Given the description of an element on the screen output the (x, y) to click on. 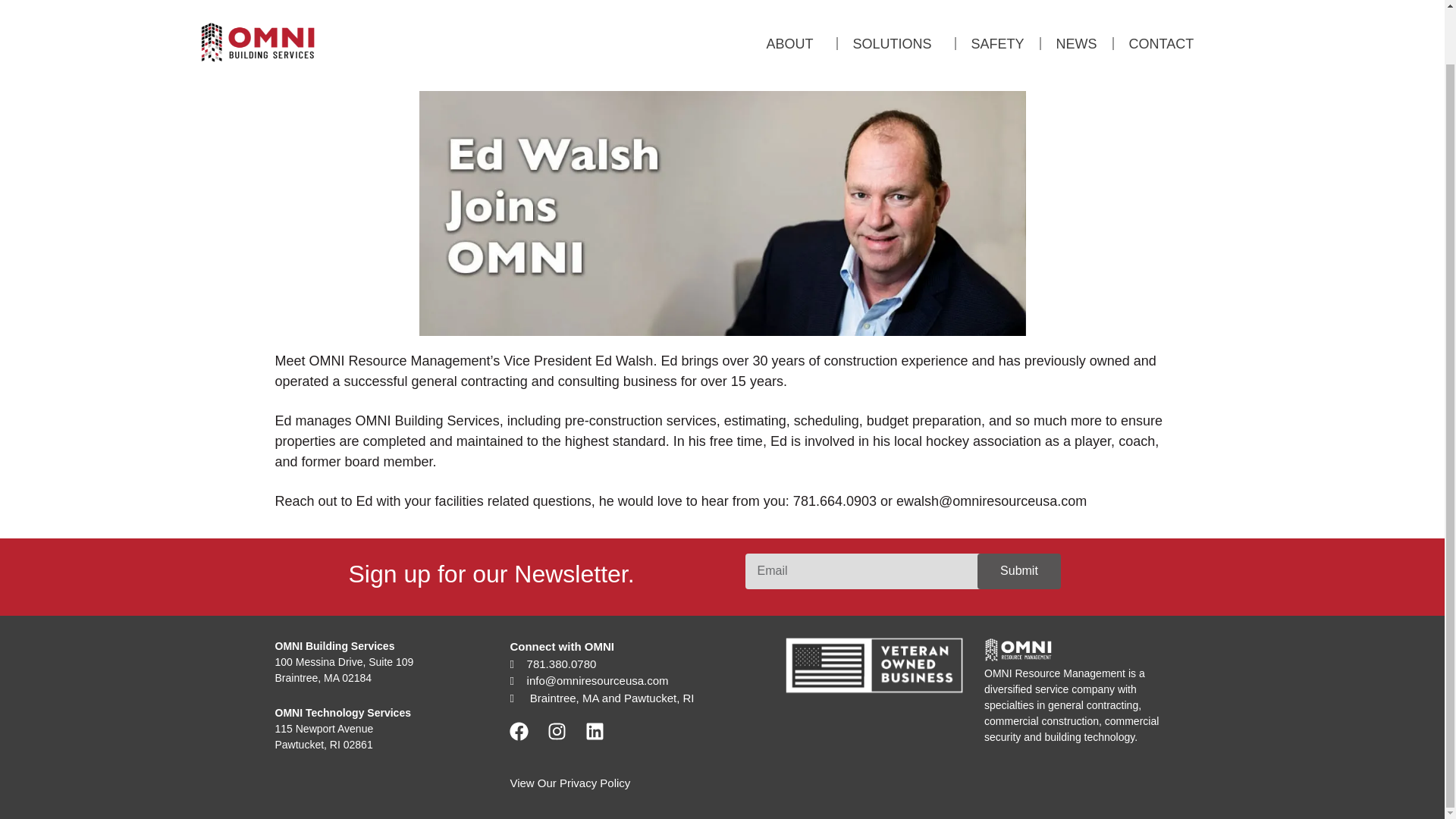
SAFETY (997, 1)
ABOUT (793, 1)
SOLUTIONS (896, 1)
CONTACT (1161, 1)
NEWS (1076, 1)
Omni Resource Management Privacy Policy (569, 782)
